Given the description of an element on the screen output the (x, y) to click on. 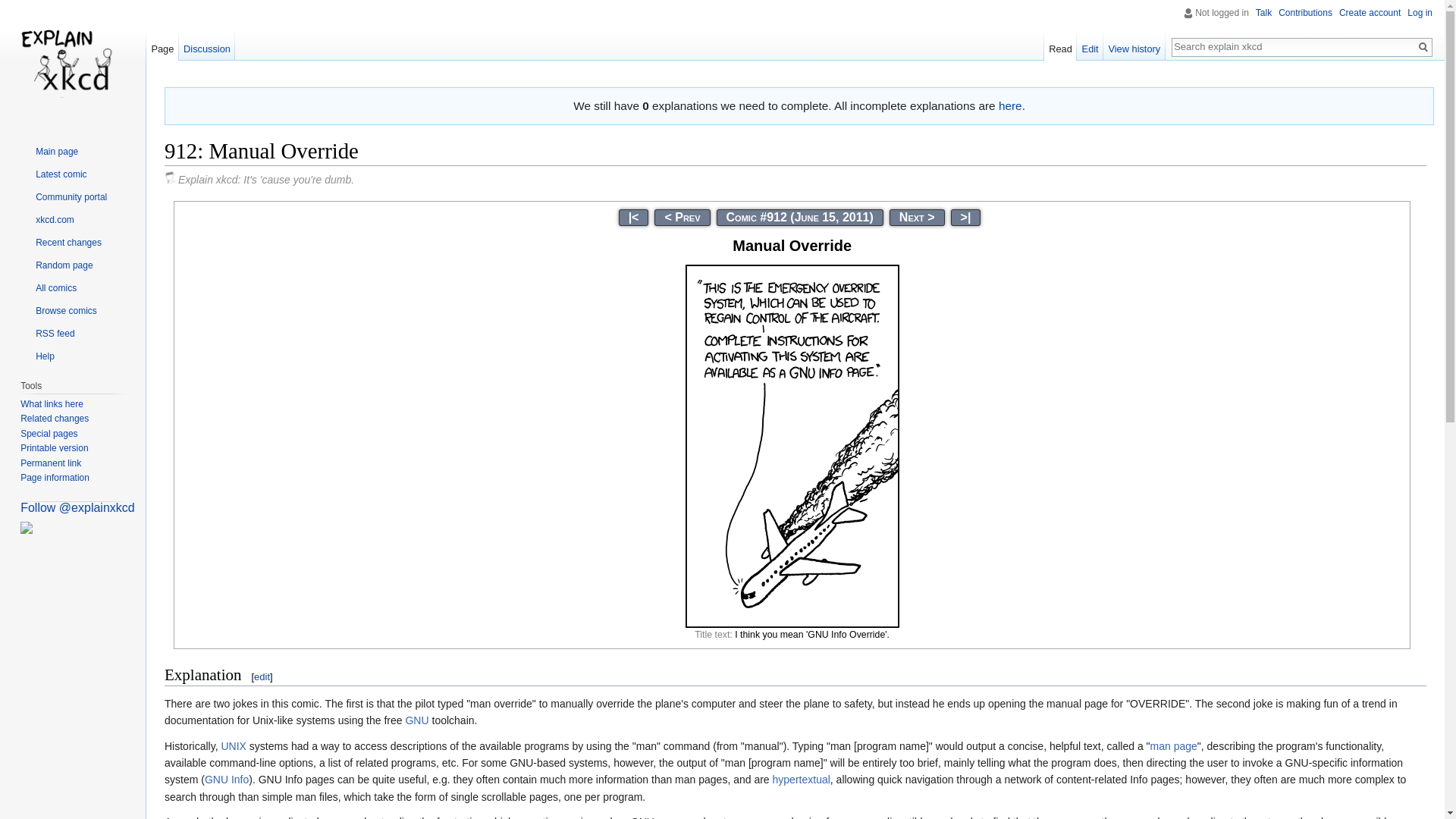
2979 (965, 216)
Category:Incomplete explanations (1010, 105)
1 (633, 216)
913 (916, 216)
GNU Info (226, 779)
Go (1423, 46)
Edit section: Explanation (261, 676)
wikipedia:Man page (1173, 746)
Search (1423, 46)
here (1010, 105)
